Given the description of an element on the screen output the (x, y) to click on. 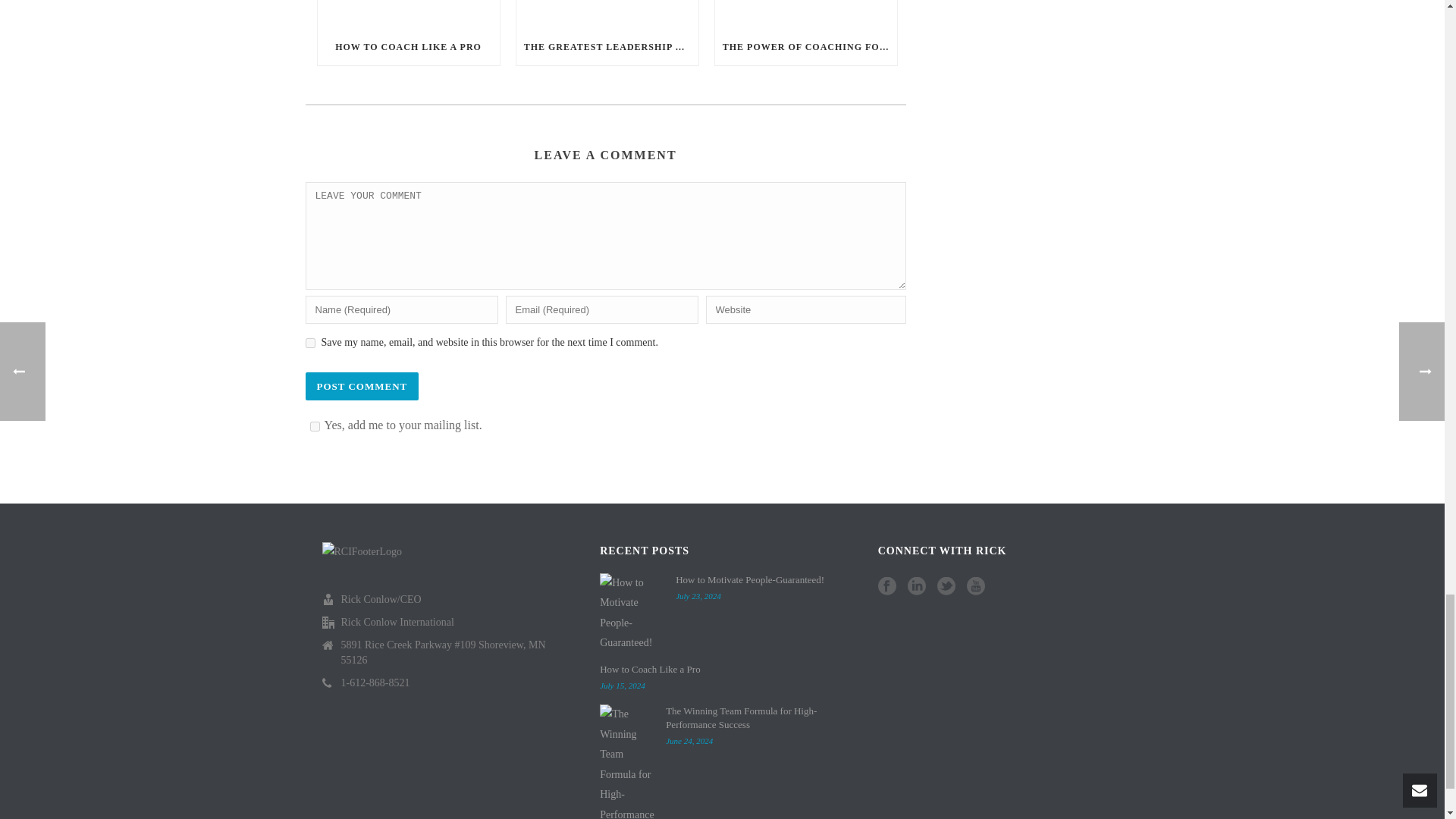
POST COMMENT (361, 386)
The Power of Coaching for High Performance (805, 14)
1 (313, 426)
The Greatest Leadership Myth Ever-Debunked! (607, 14)
How to Coach Like a Pro (408, 14)
yes (309, 343)
